Given the description of an element on the screen output the (x, y) to click on. 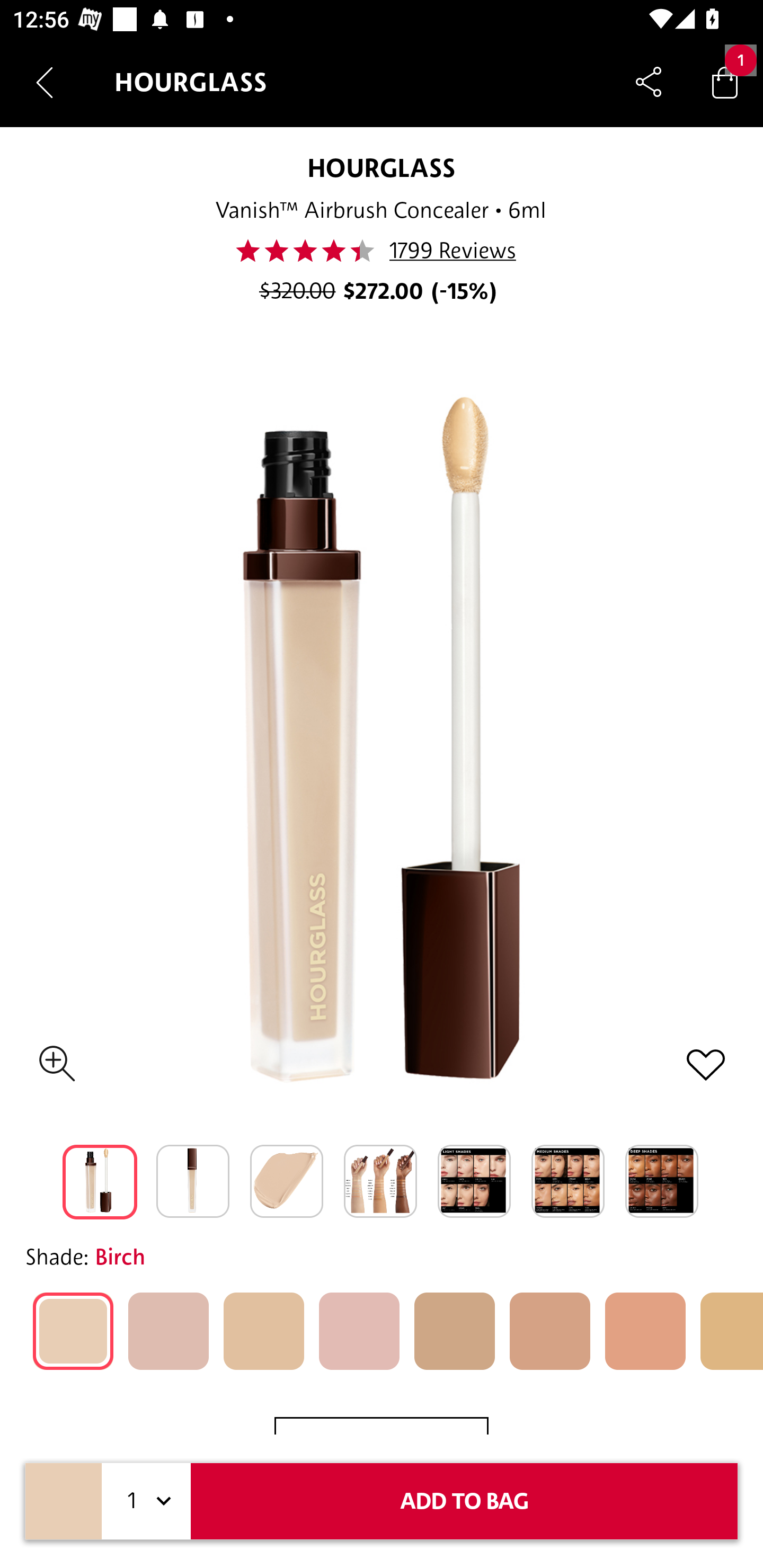
Navigate up (44, 82)
Share (648, 81)
Bag (724, 81)
HOURGLASS (381, 167)
44.0 1799 Reviews (380, 250)
1 (145, 1500)
ADD TO BAG (463, 1500)
